Given the description of an element on the screen output the (x, y) to click on. 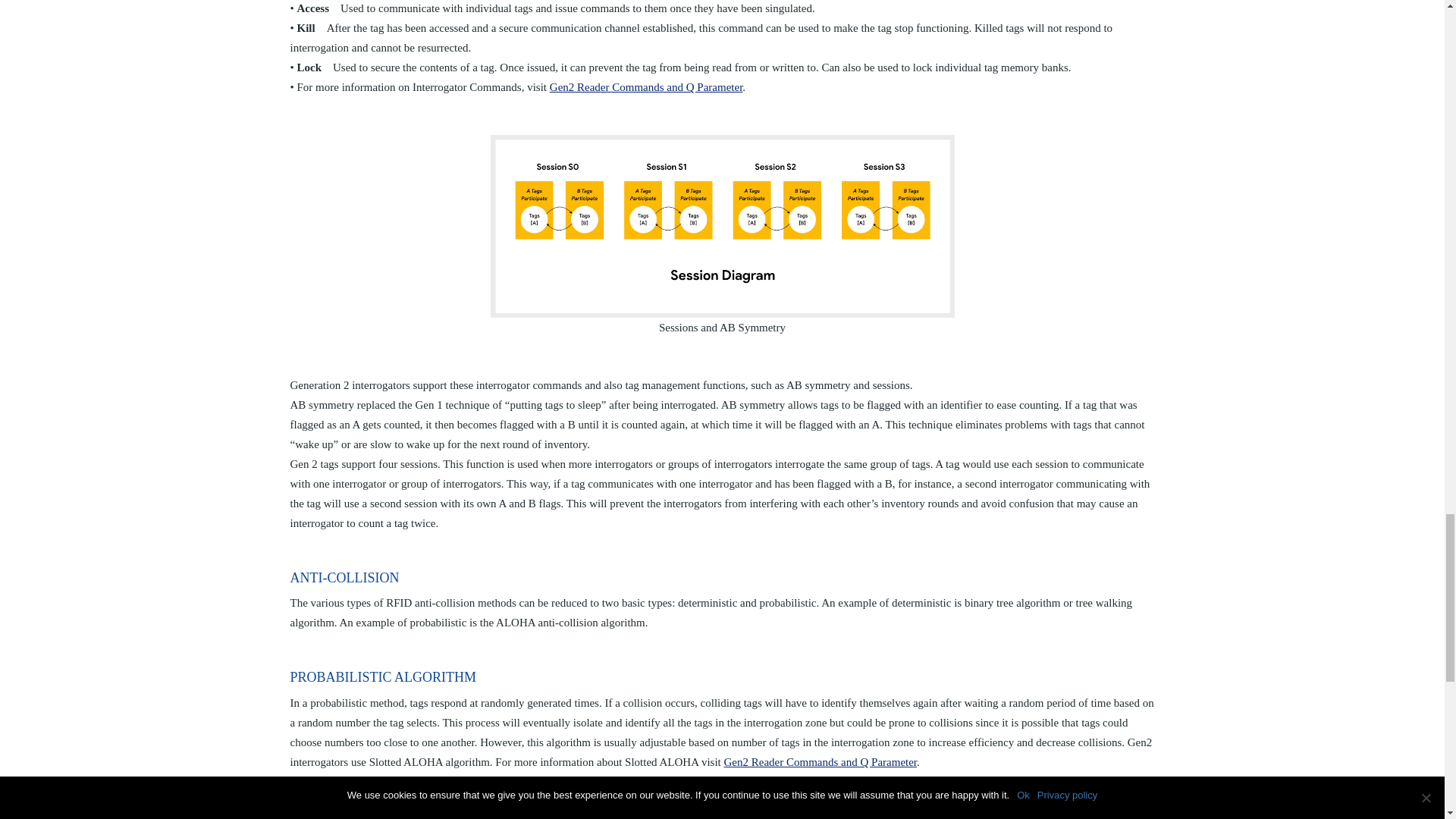
TAG POPULATION MANAGEMENT (722, 225)
